Given the description of an element on the screen output the (x, y) to click on. 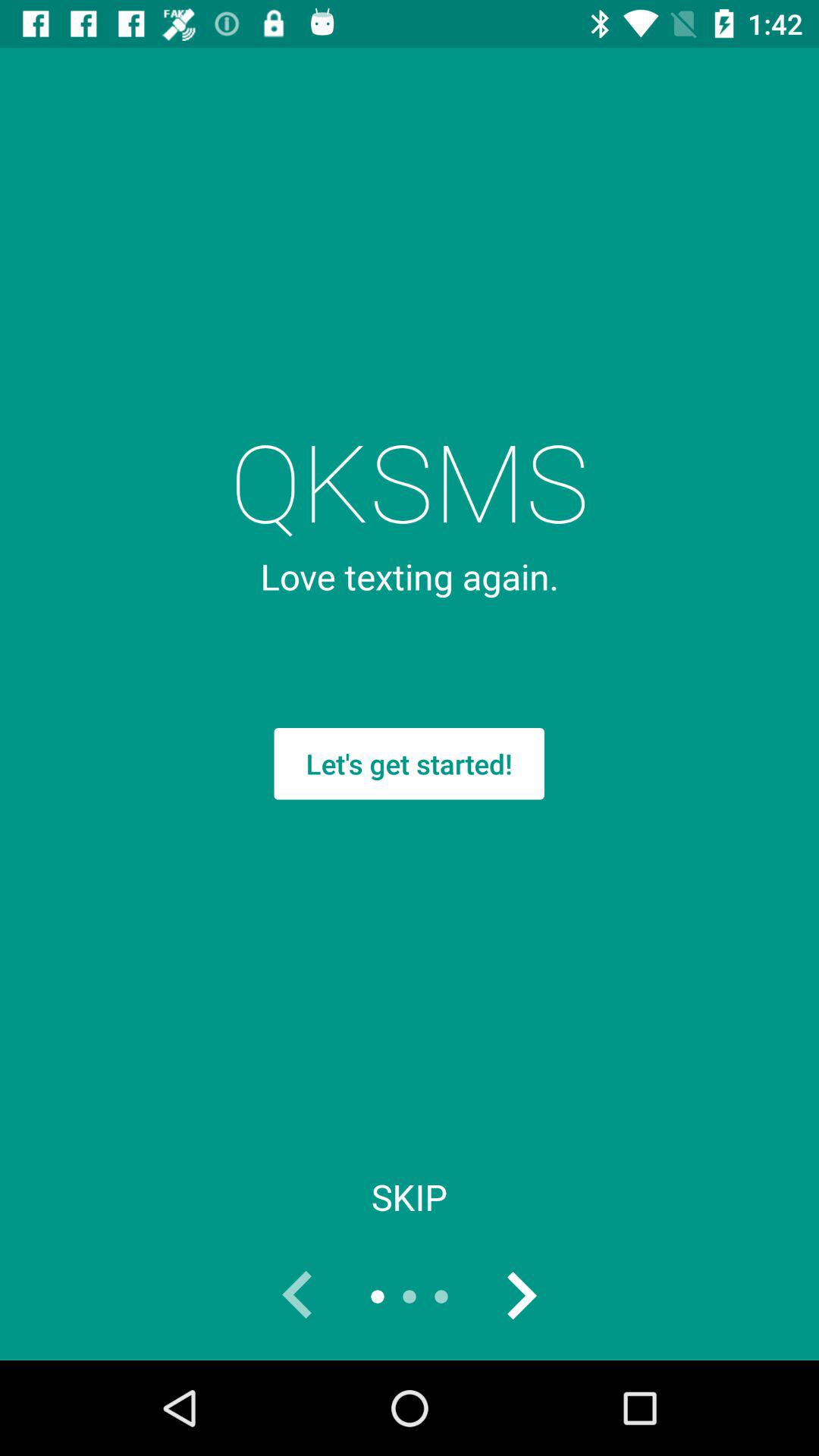
go back a page (297, 1296)
